Given the description of an element on the screen output the (x, y) to click on. 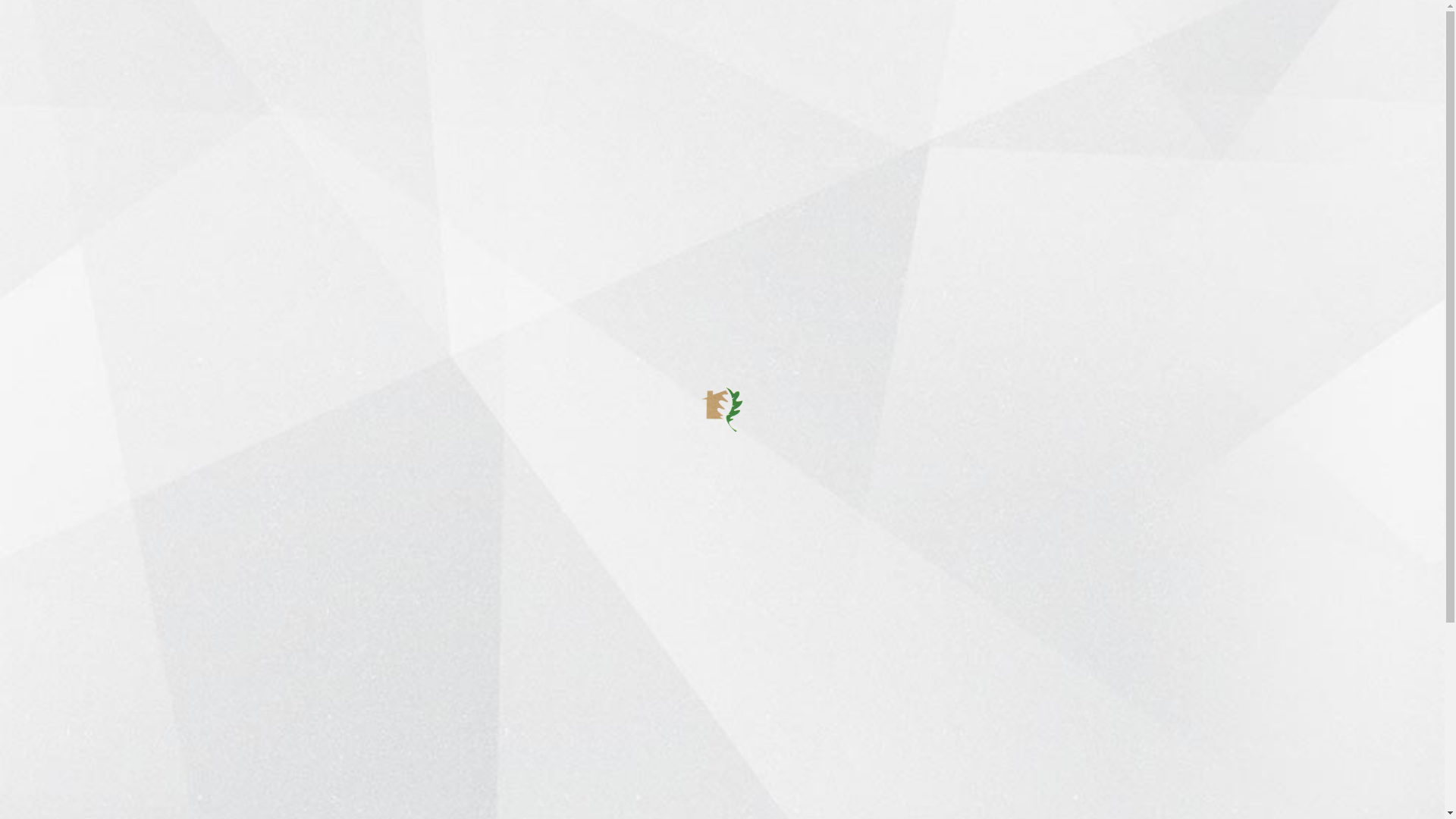
Vacancy (921, 43)
Partners (863, 43)
Our Services (636, 811)
Projects (576, 43)
News Feed (512, 43)
Gallery (707, 43)
Visitors (808, 43)
Our Projects (635, 785)
People (758, 43)
About Us (357, 43)
Contact Us (986, 43)
Our Services (433, 43)
Publications (643, 43)
theigc.org (423, 629)
